Given the description of an element on the screen output the (x, y) to click on. 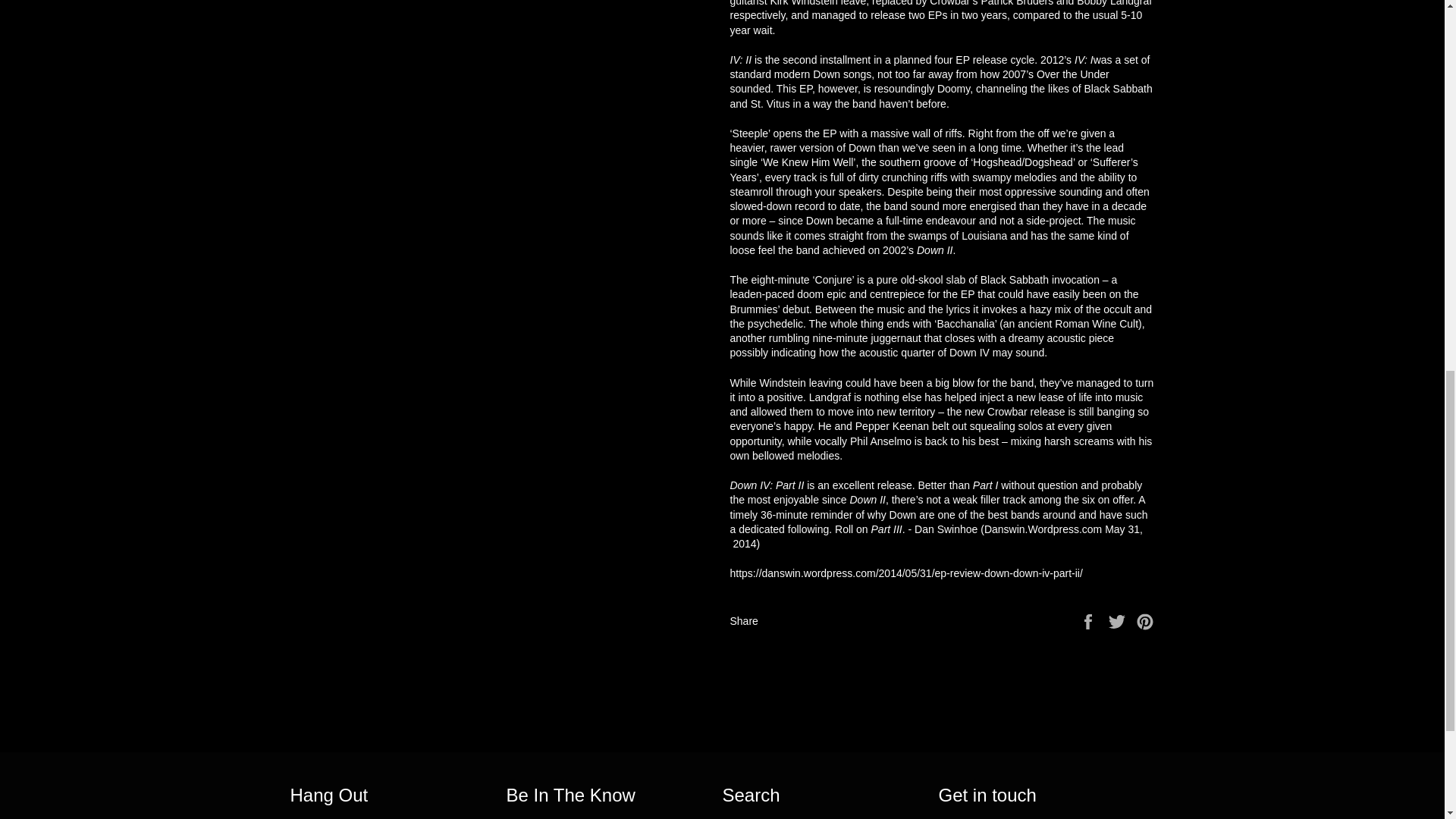
Share on Facebook (1089, 620)
Tweet on Twitter (1118, 620)
Pin on Pinterest (1144, 620)
